Given the description of an element on the screen output the (x, y) to click on. 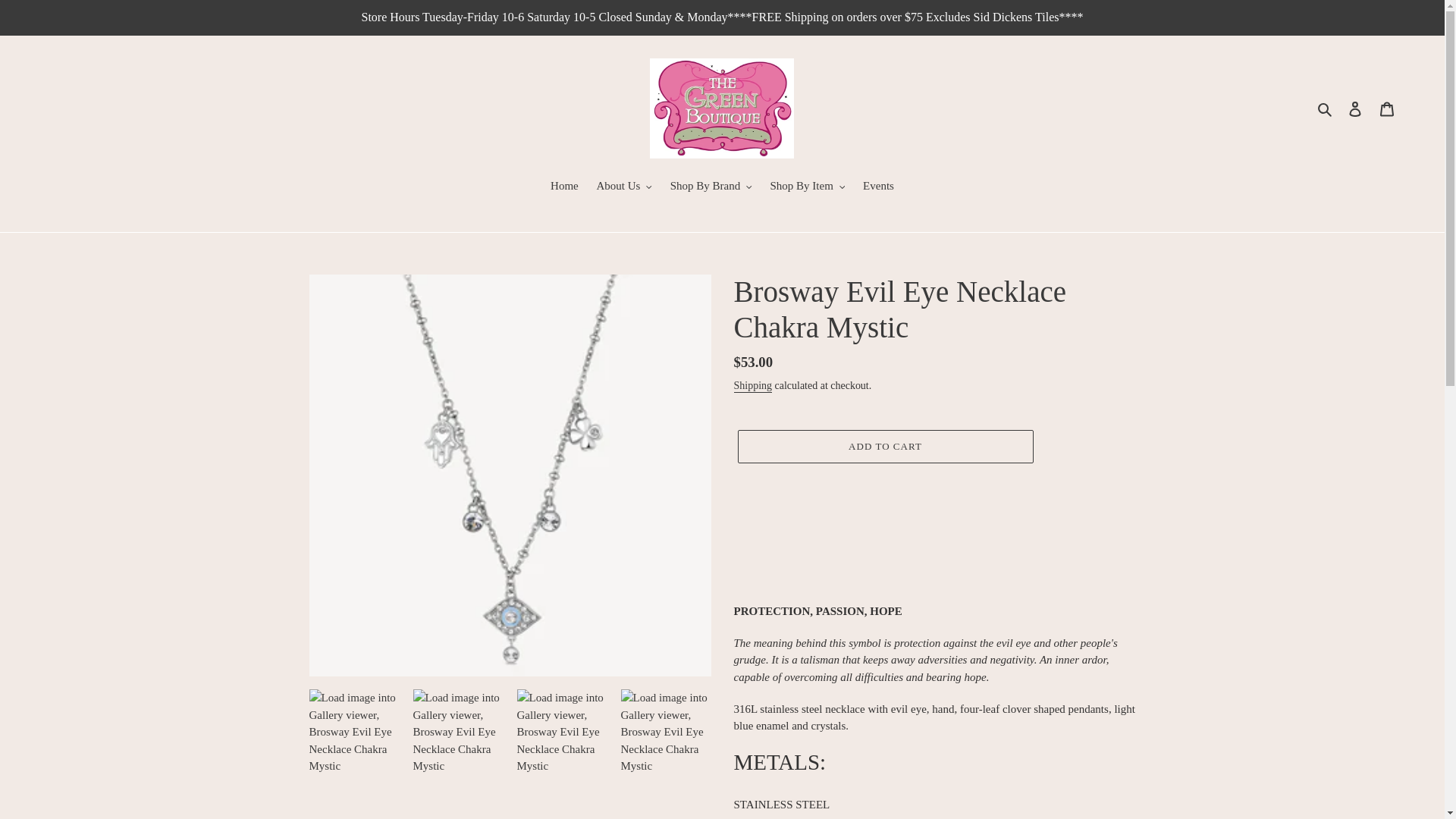
Log in (1355, 108)
Search (1326, 108)
Cart (1387, 108)
